Given the description of an element on the screen output the (x, y) to click on. 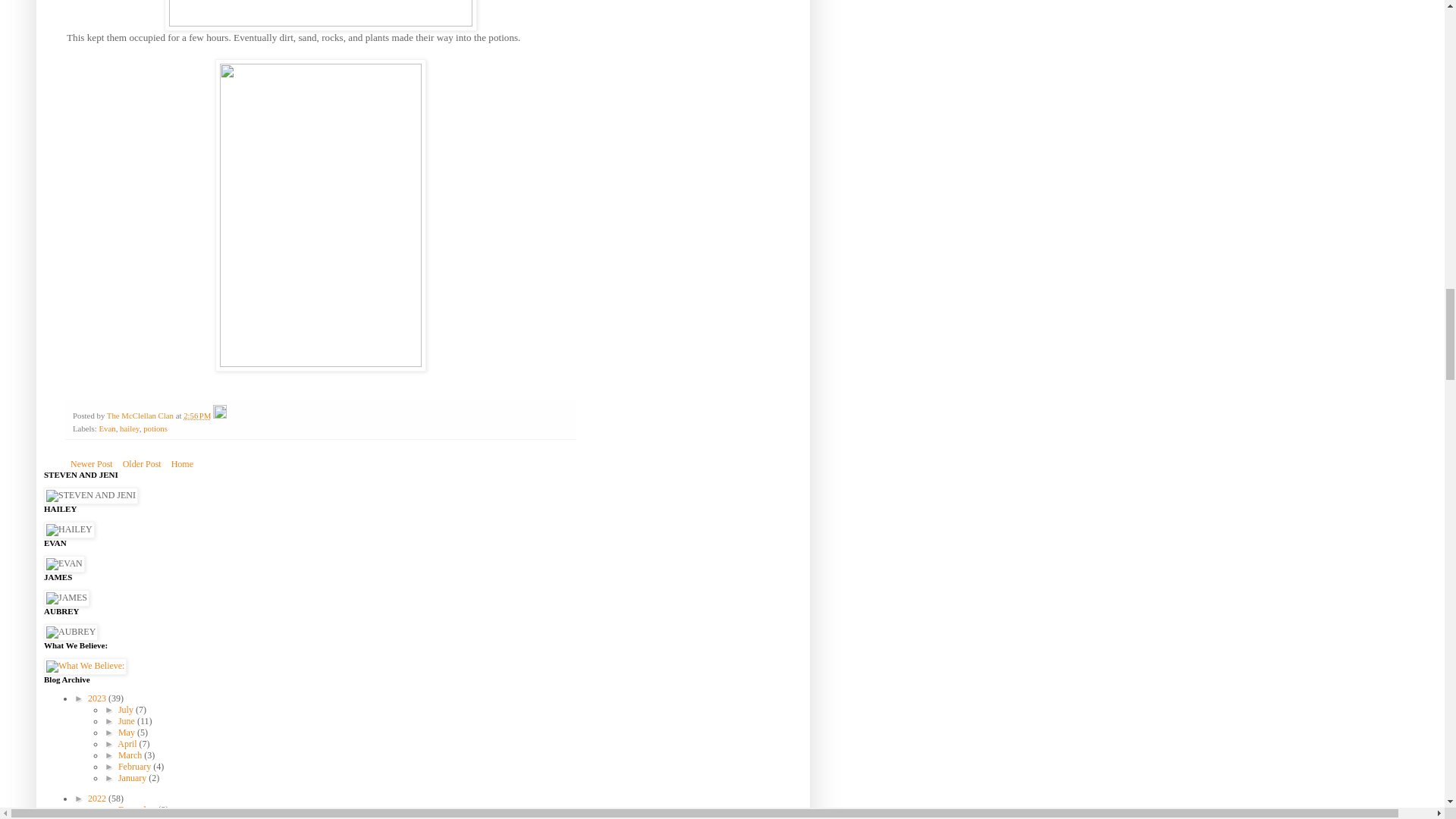
March (130, 755)
Evan (107, 428)
Newer Post (91, 464)
Edit Post (219, 415)
Older Post (142, 464)
January (132, 777)
2023 (97, 697)
hailey (129, 428)
The McClellan Clan (141, 415)
May (126, 732)
potions (154, 428)
permanent link (197, 415)
April (127, 743)
Older Post (142, 464)
